Given the description of an element on the screen output the (x, y) to click on. 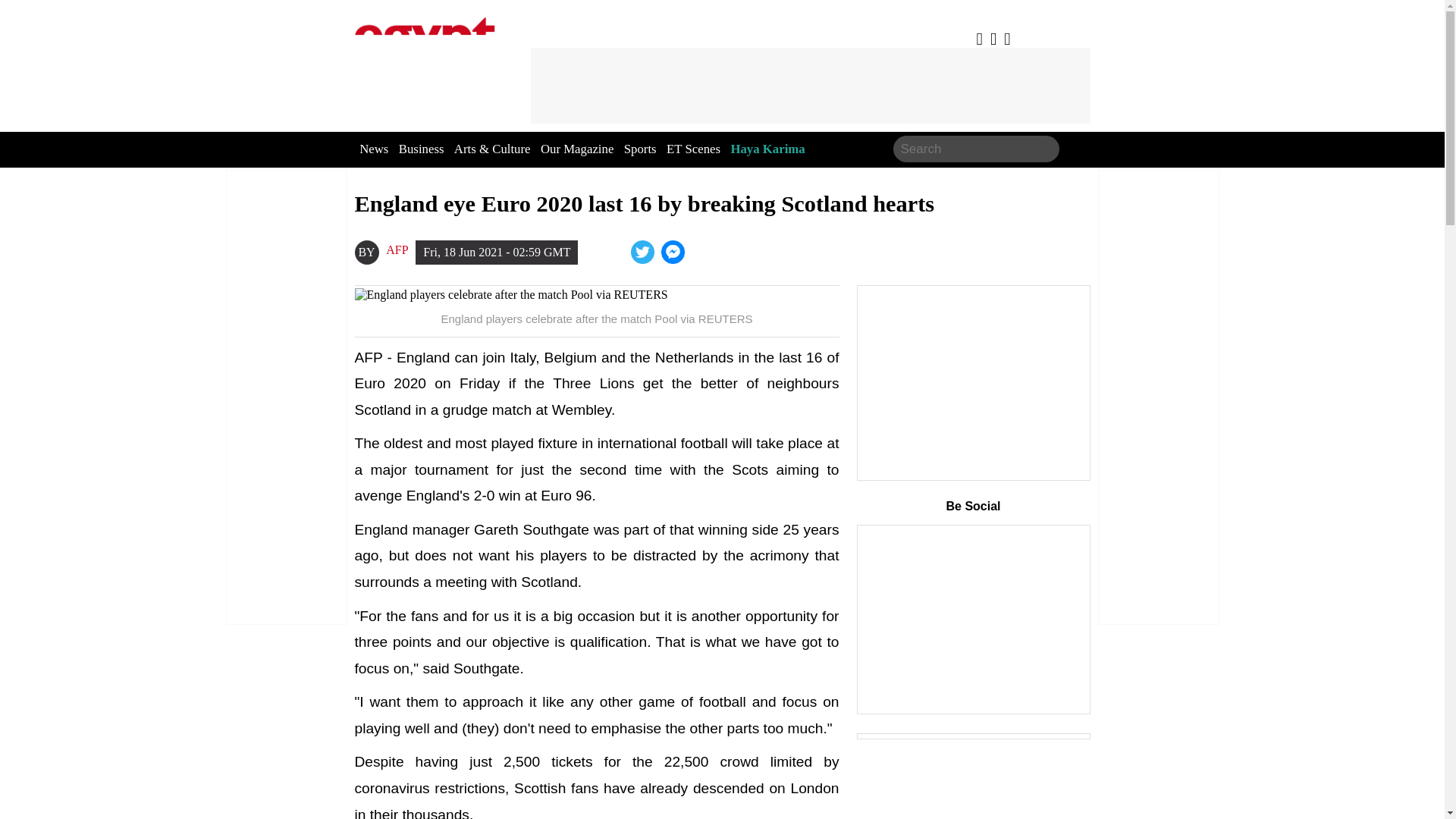
Sports (640, 149)
ET Scenes (693, 149)
Business (421, 149)
News (373, 149)
Haya Karima (767, 149)
AFP (396, 250)
EgyptToday (425, 39)
England players celebrate after the match Pool via REUTERS (597, 295)
Sisi heads to Guinea first destination in overseas tour (674, 251)
Our Magazine (576, 149)
